Given the description of an element on the screen output the (x, y) to click on. 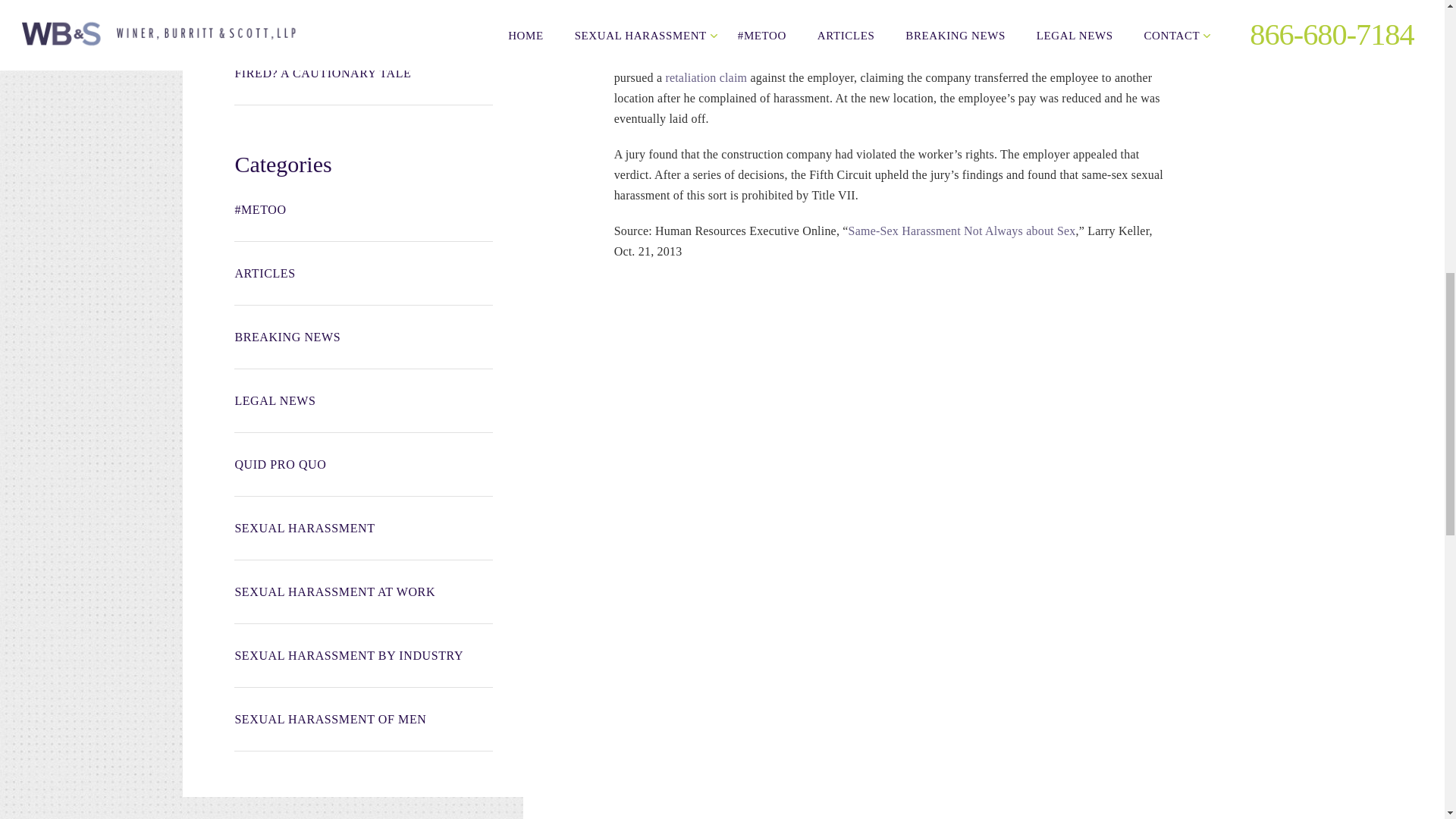
ARTICLES (363, 273)
BREAKING NEWS (363, 337)
LEGAL NEWS (363, 401)
SEXUAL HARASSMENT AT WORK (363, 592)
retaliation claim (705, 77)
Same-Sex Harassment Not Always about Sex (961, 230)
QUID PRO QUO (363, 464)
CAN MY TEN-YEAR-OLD TWEET GET ME FIRED? A CAUTIONARY TALE (363, 64)
SEXUAL HARASSMENT (363, 528)
